Given the description of an element on the screen output the (x, y) to click on. 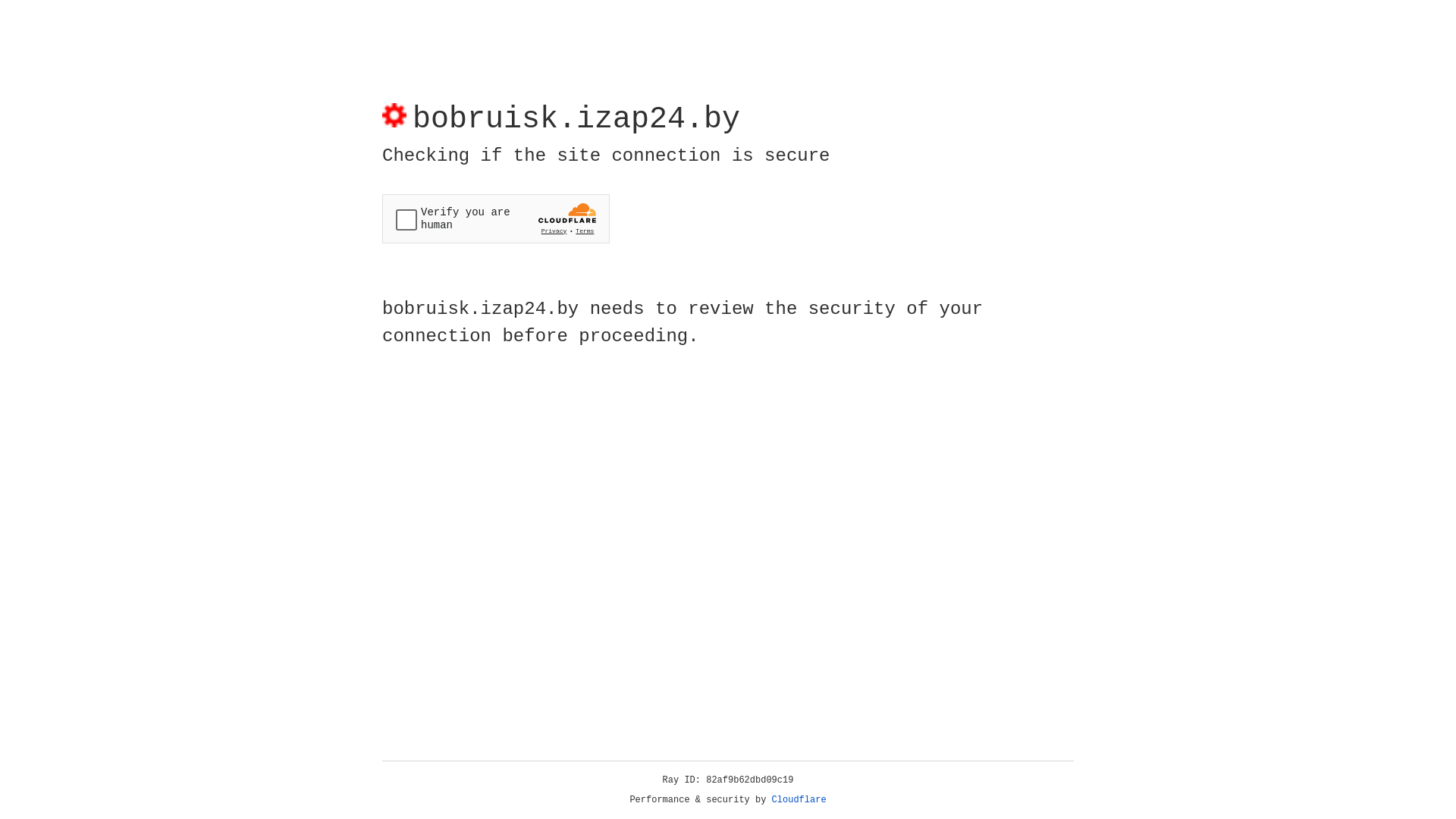
Widget containing a Cloudflare security challenge Element type: hover (495, 218)
Cloudflare Element type: text (798, 799)
